Given the description of an element on the screen output the (x, y) to click on. 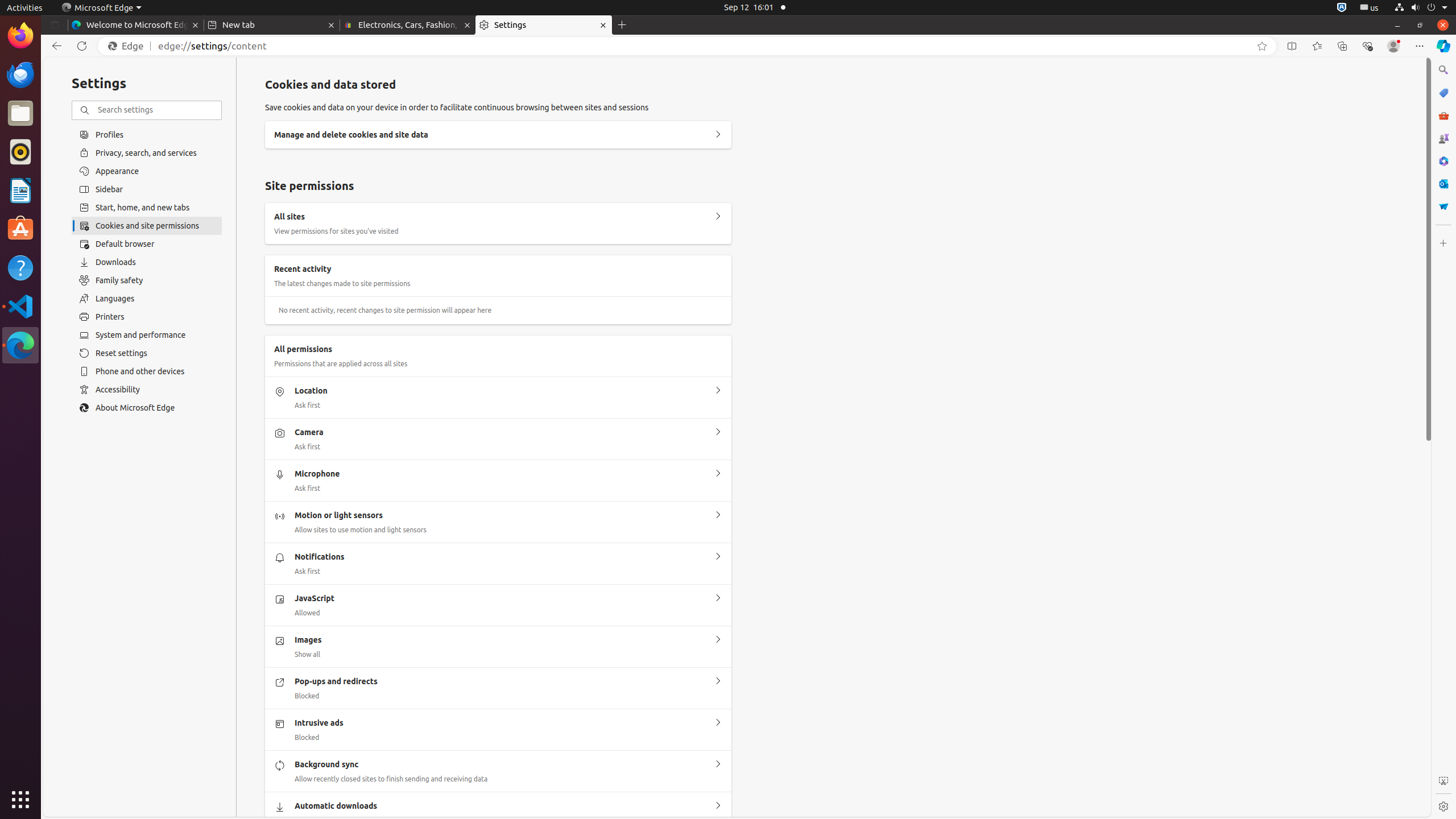
Split screen Element type: push-button (1291, 45)
Refresh Element type: push-button (81, 45)
Outlook Element type: push-button (1443, 183)
Settings Element type: push-button (1443, 806)
Cookies and site permissions Element type: tree-item (146, 225)
